Given the description of an element on the screen output the (x, y) to click on. 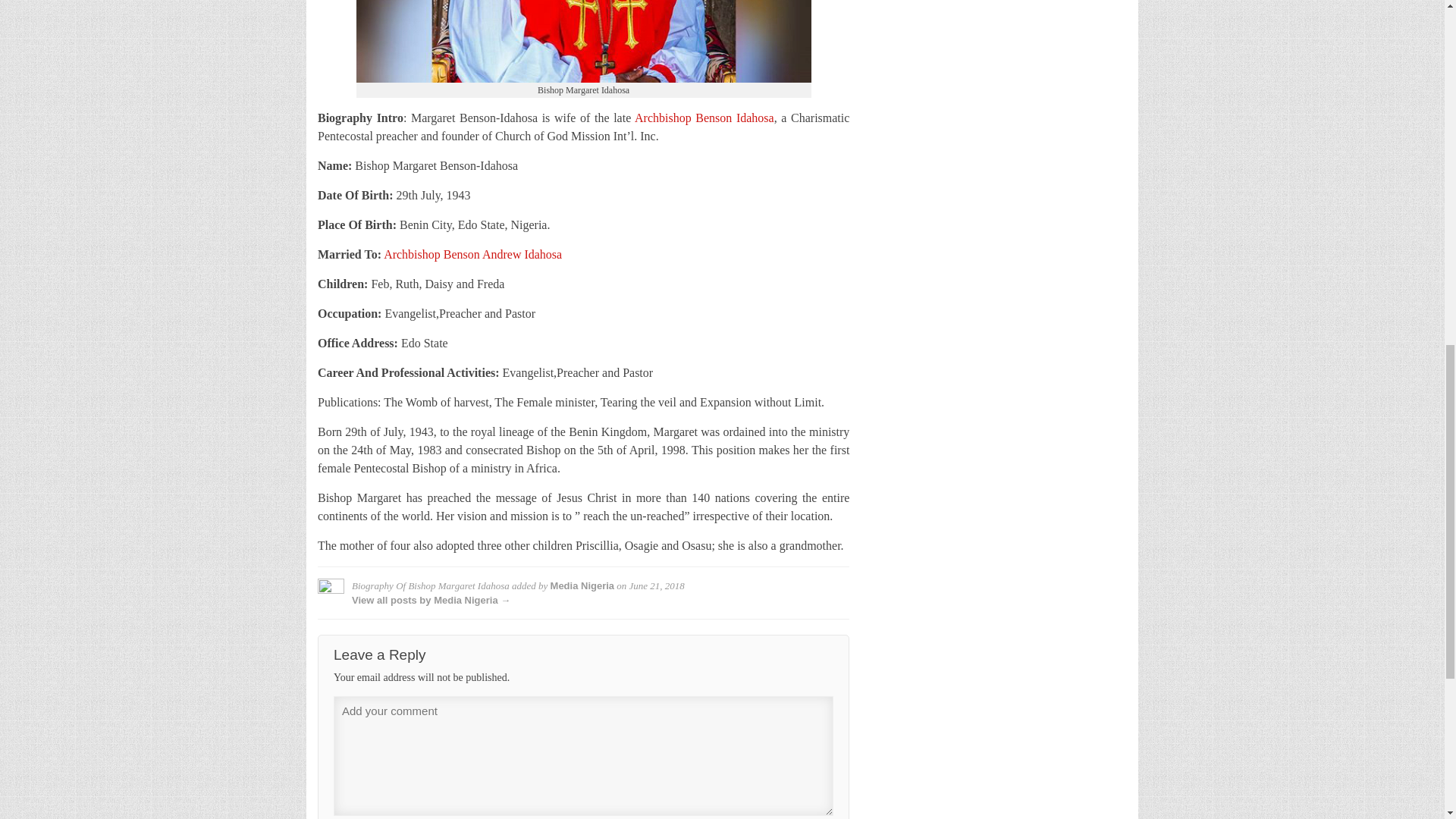
Archbishop Benson Idahosa (704, 117)
Archbishop Benson Andrew Idahosa (473, 254)
Media Nigeria (582, 585)
